Given the description of an element on the screen output the (x, y) to click on. 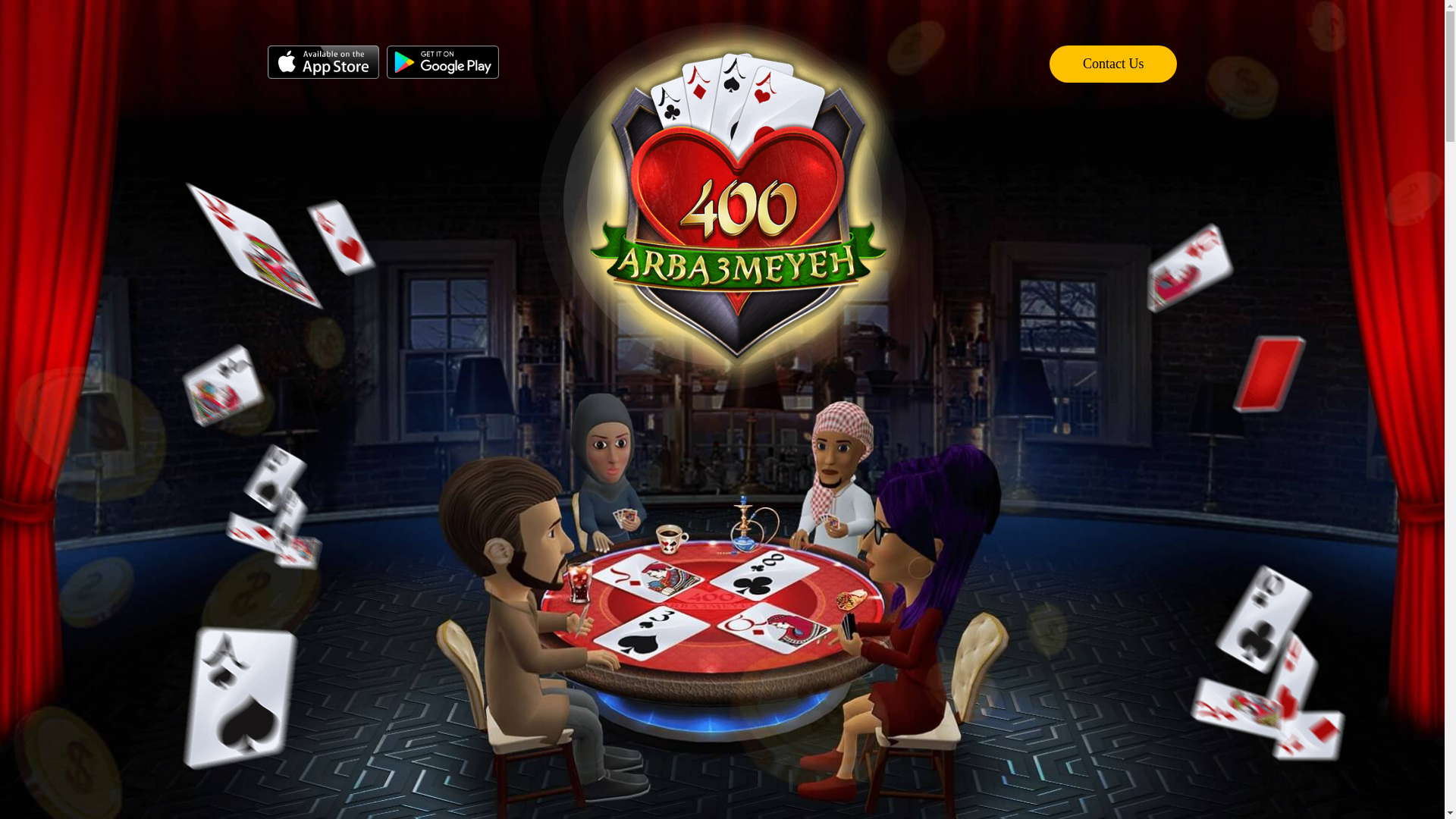
Contact Us (1113, 89)
